Given the description of an element on the screen output the (x, y) to click on. 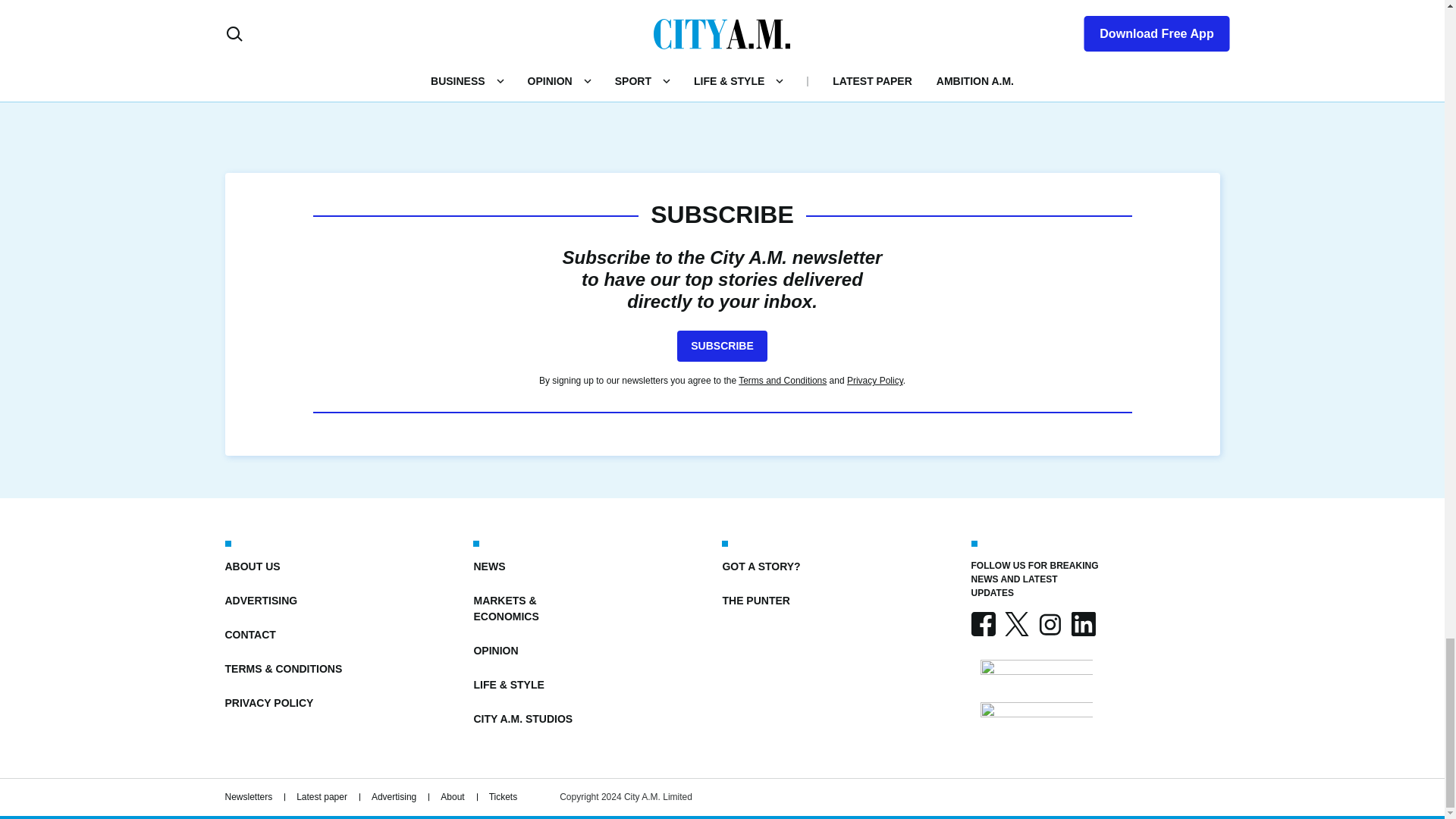
FACEBOOK (982, 623)
LINKEDIN (1082, 623)
X (1015, 623)
INSTAGRAM (1048, 623)
